Given the description of an element on the screen output the (x, y) to click on. 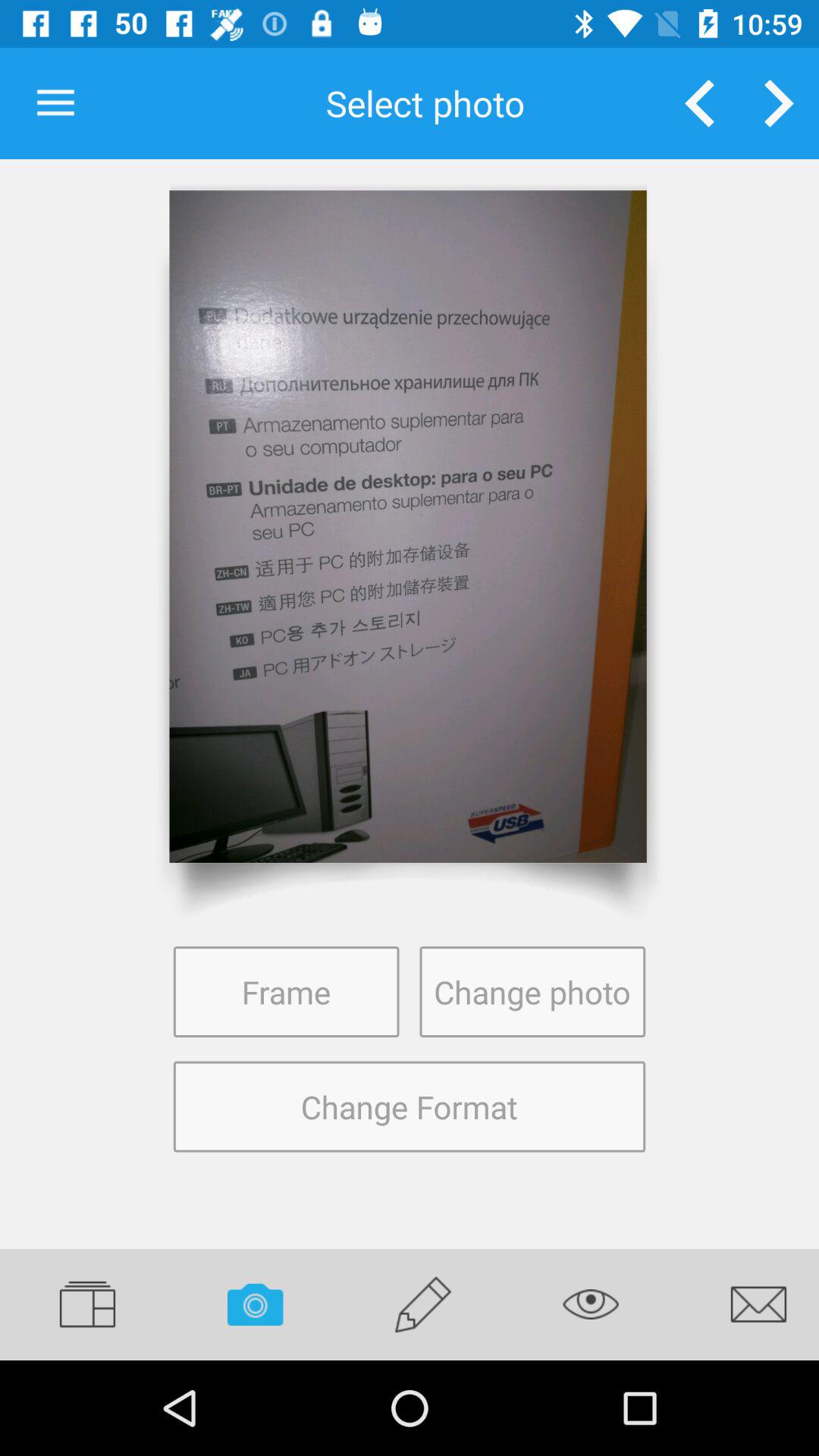
launch icon above frame item (407, 526)
